Given the description of an element on the screen output the (x, y) to click on. 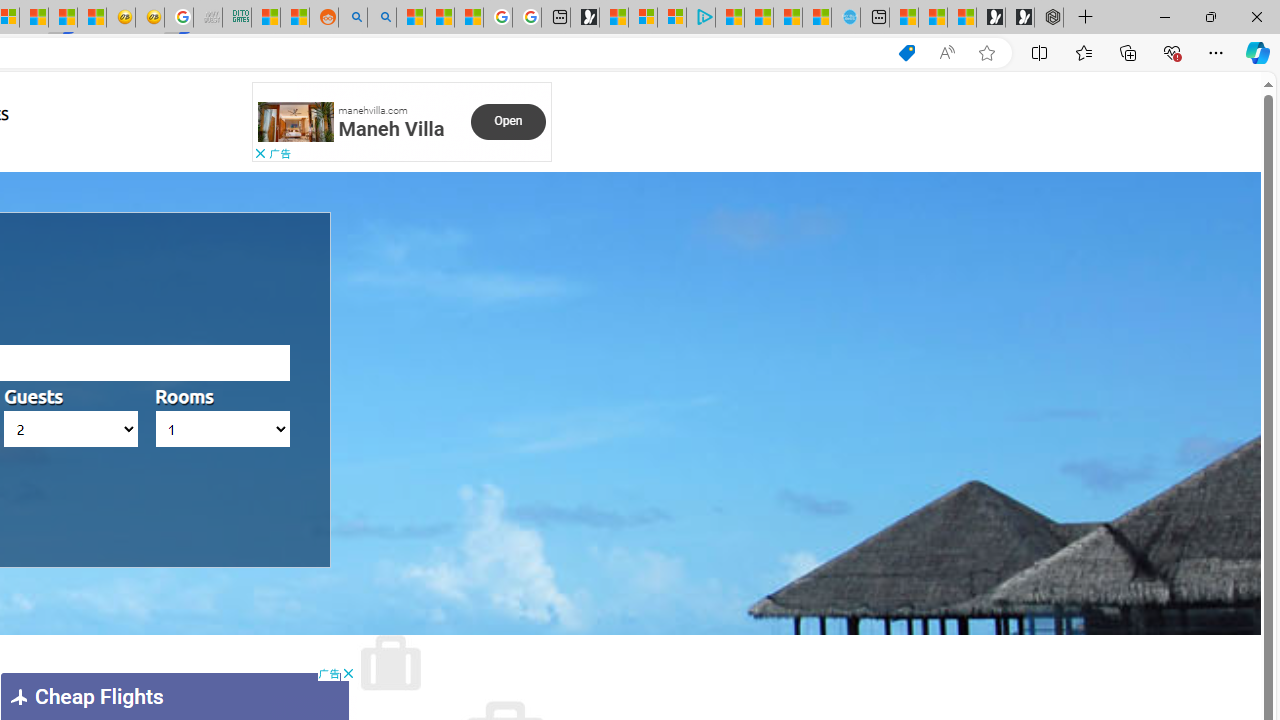
manehvilla.com (372, 109)
AutomationID: cbb (347, 673)
AutomationID: hotels_passengers (71, 429)
Class: ns-pn6gp-e-16 svg-anchor (296, 121)
